Given the description of an element on the screen output the (x, y) to click on. 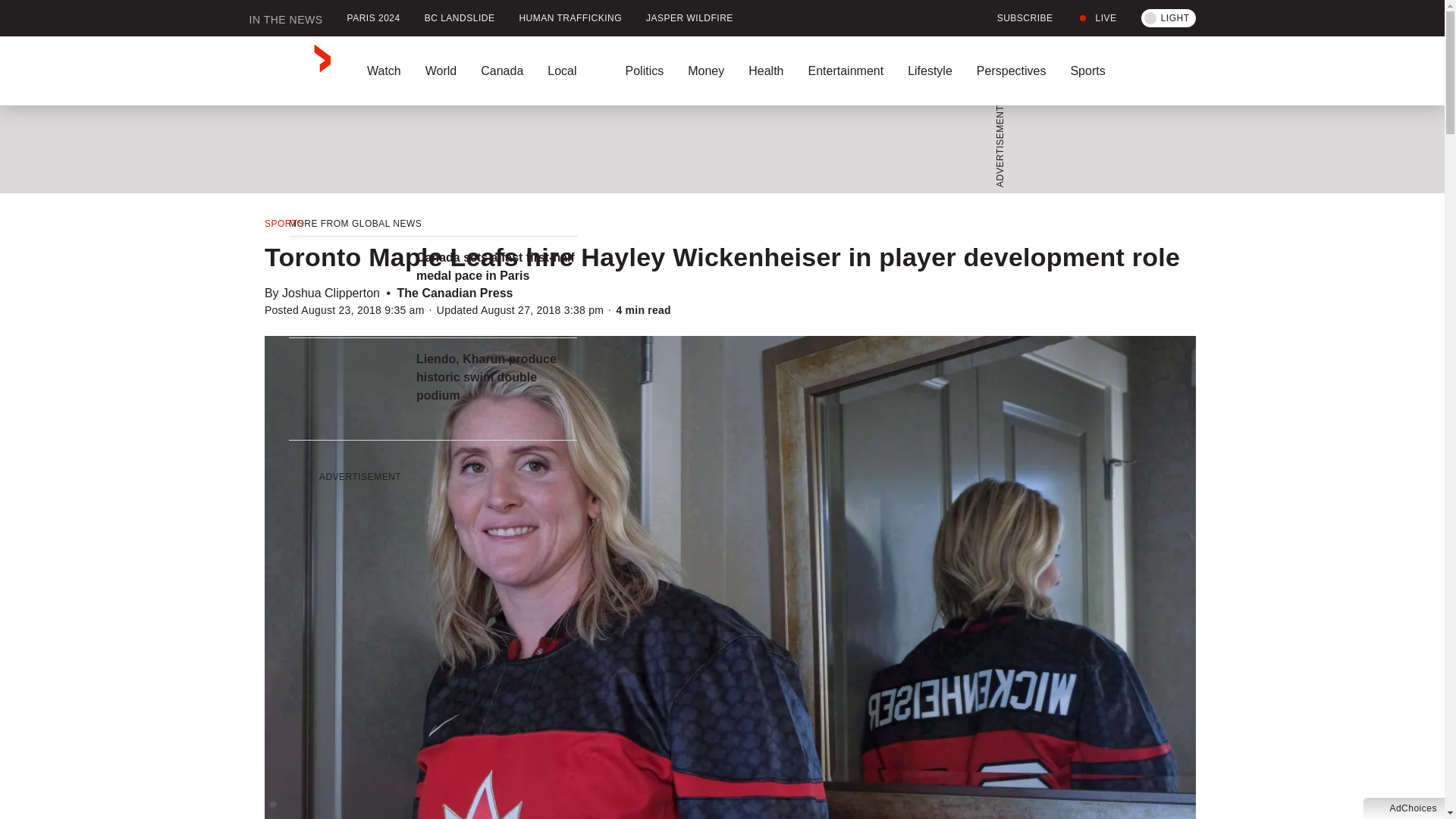
LIVE (1096, 18)
Canada sets a fast first-half medal pace in Paris (496, 266)
Local (573, 70)
PARIS 2024 (373, 18)
Liendo, Kharun produce historic swim double podium (496, 377)
Lifestyle (929, 70)
GlobalNews home (289, 70)
JASPER WILDFIRE (689, 18)
HUMAN TRAFFICKING (569, 18)
Entertainment (844, 70)
Canada (501, 70)
Politics (643, 70)
SUBSCRIBE (1015, 18)
Perspectives (1010, 70)
